Given the description of an element on the screen output the (x, y) to click on. 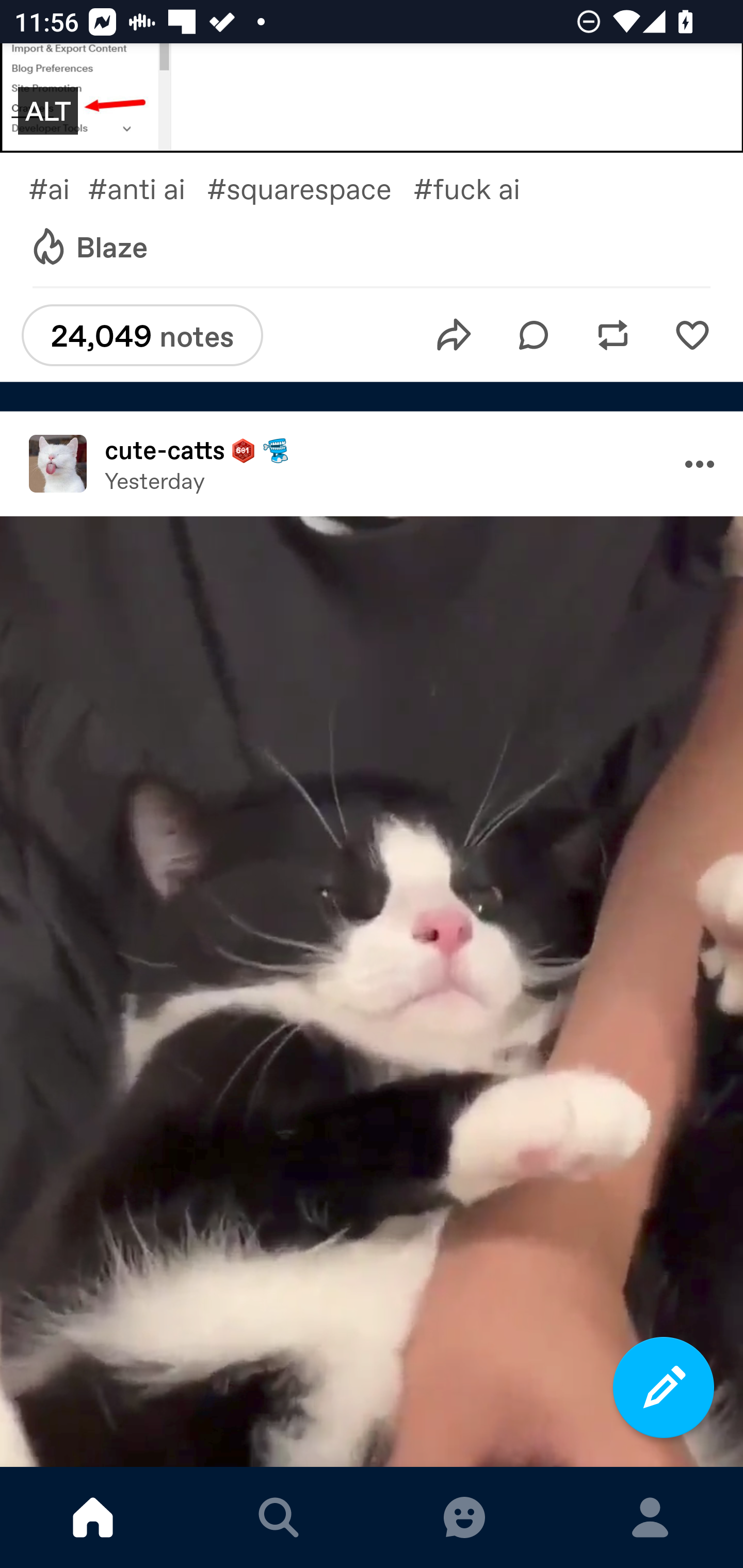
ALT (47, 110)
#ai (57, 187)
#anti ai (146, 187)
#squarespace (309, 187)
#fuck ai (481, 187)
Blaze Blaze Blaze (88, 247)
Share post to message (454, 335)
Reply (533, 335)
Reblog (612, 335)
Like (691, 335)
24,049 notes (142, 335)
Compose a new post (663, 1387)
DASHBOARD (92, 1517)
EXPLORE (278, 1517)
MESSAGES (464, 1517)
ACCOUNT (650, 1517)
